Given the description of an element on the screen output the (x, y) to click on. 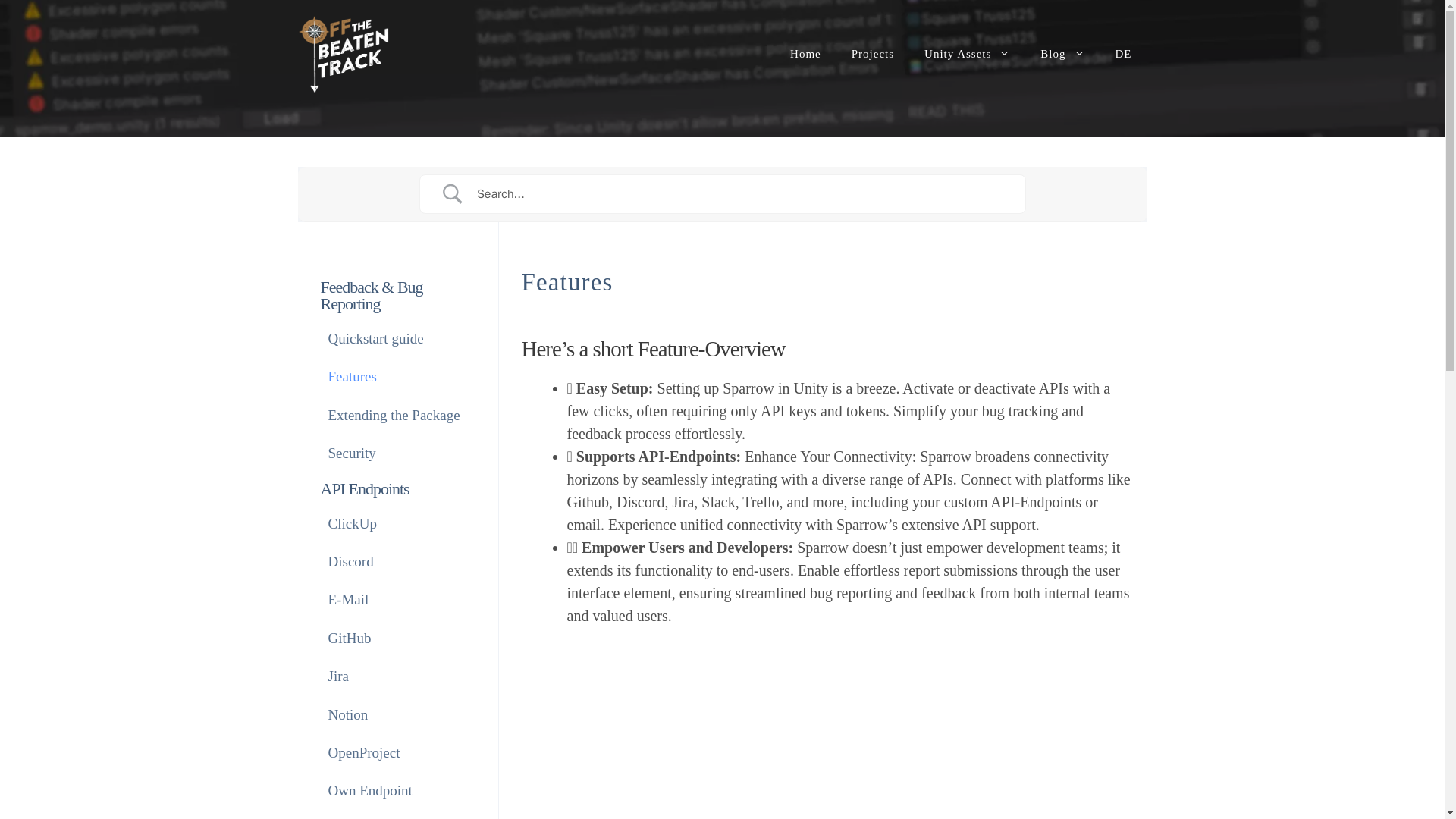
Projects (871, 53)
Own Endpoint (369, 790)
Extending the Package (393, 415)
OpenProject (362, 753)
Features (351, 376)
Unity Assets (966, 53)
Quickstart guide (375, 338)
Blog (1062, 53)
Discord (349, 561)
Notion (347, 714)
